Given the description of an element on the screen output the (x, y) to click on. 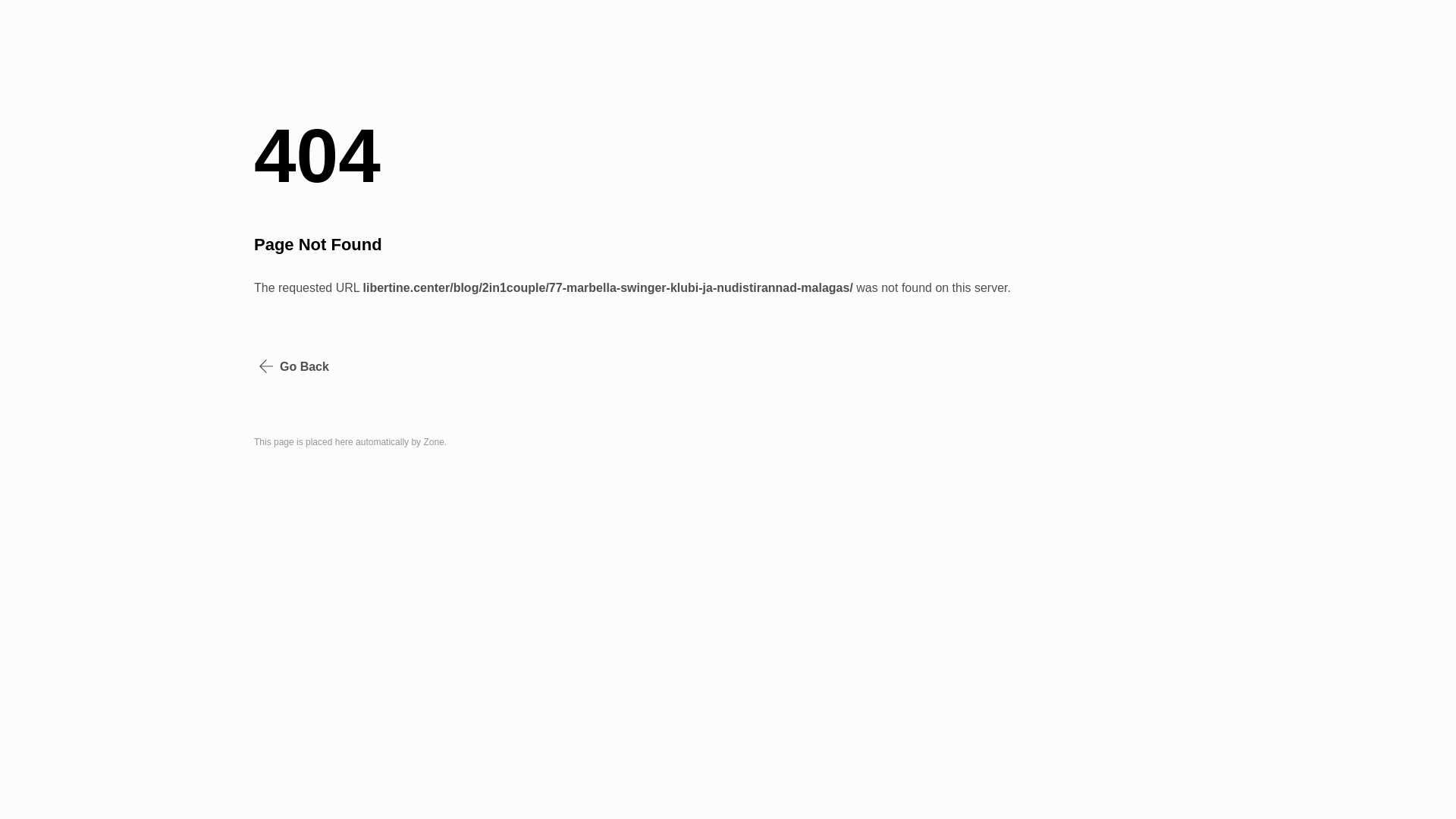
Go Back Element type: text (293, 366)
